Given the description of an element on the screen output the (x, y) to click on. 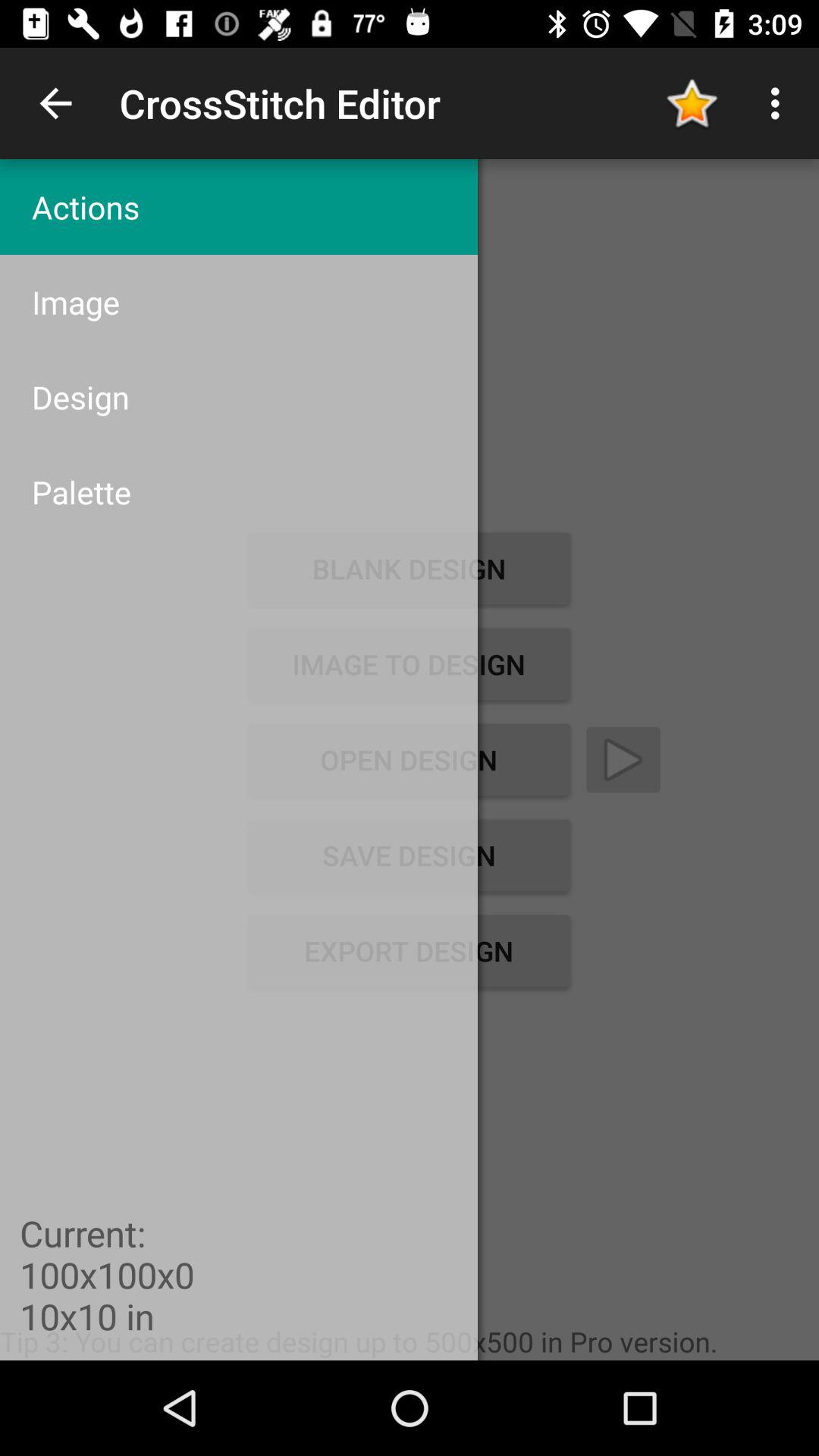
scroll to the actions icon (238, 206)
